Given the description of an element on the screen output the (x, y) to click on. 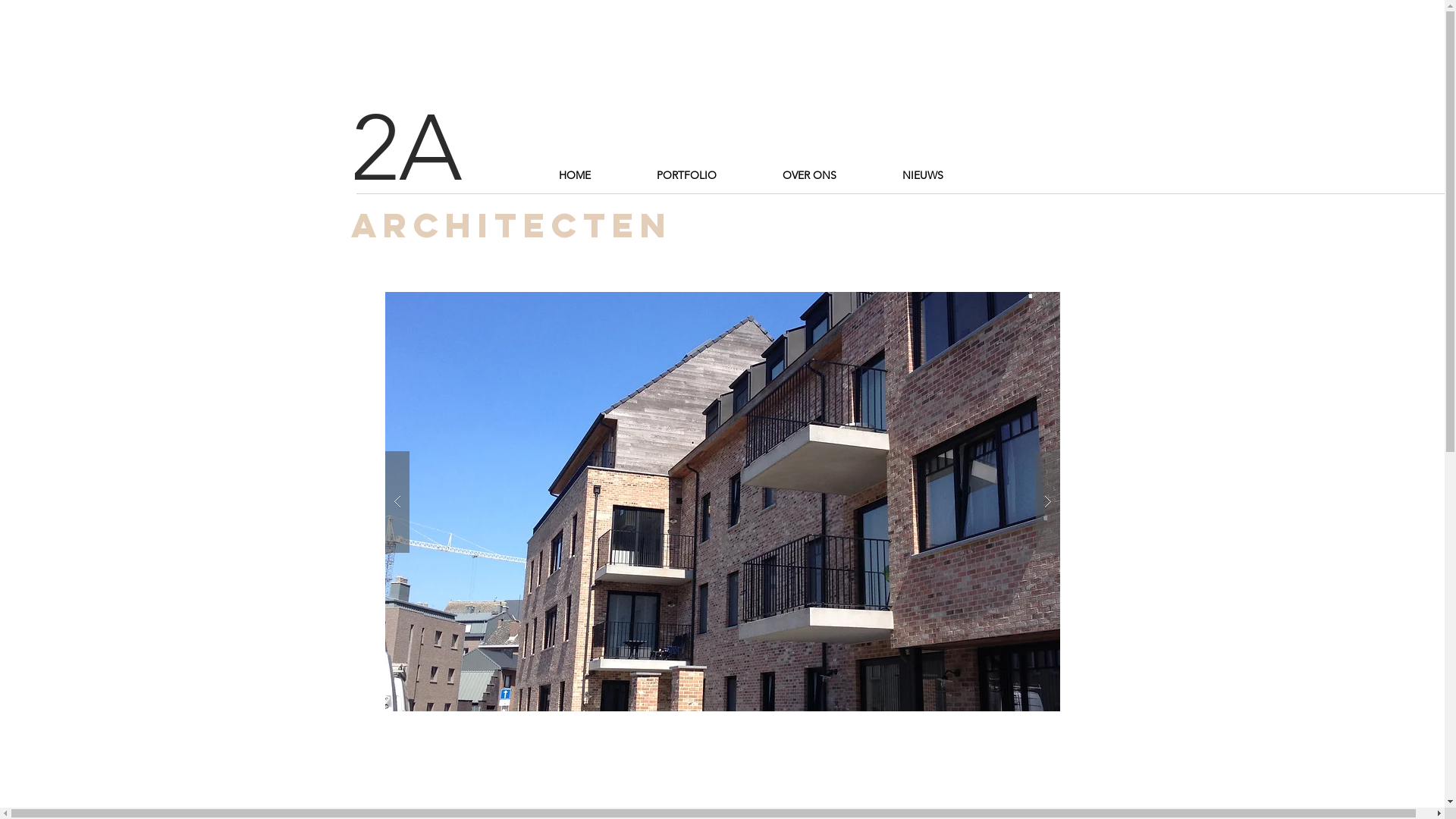
HOME Element type: text (575, 175)
NIEUWS Element type: text (922, 175)
OVER ONS Element type: text (809, 175)
PORTFOLIO Element type: text (686, 175)
